Given the description of an element on the screen output the (x, y) to click on. 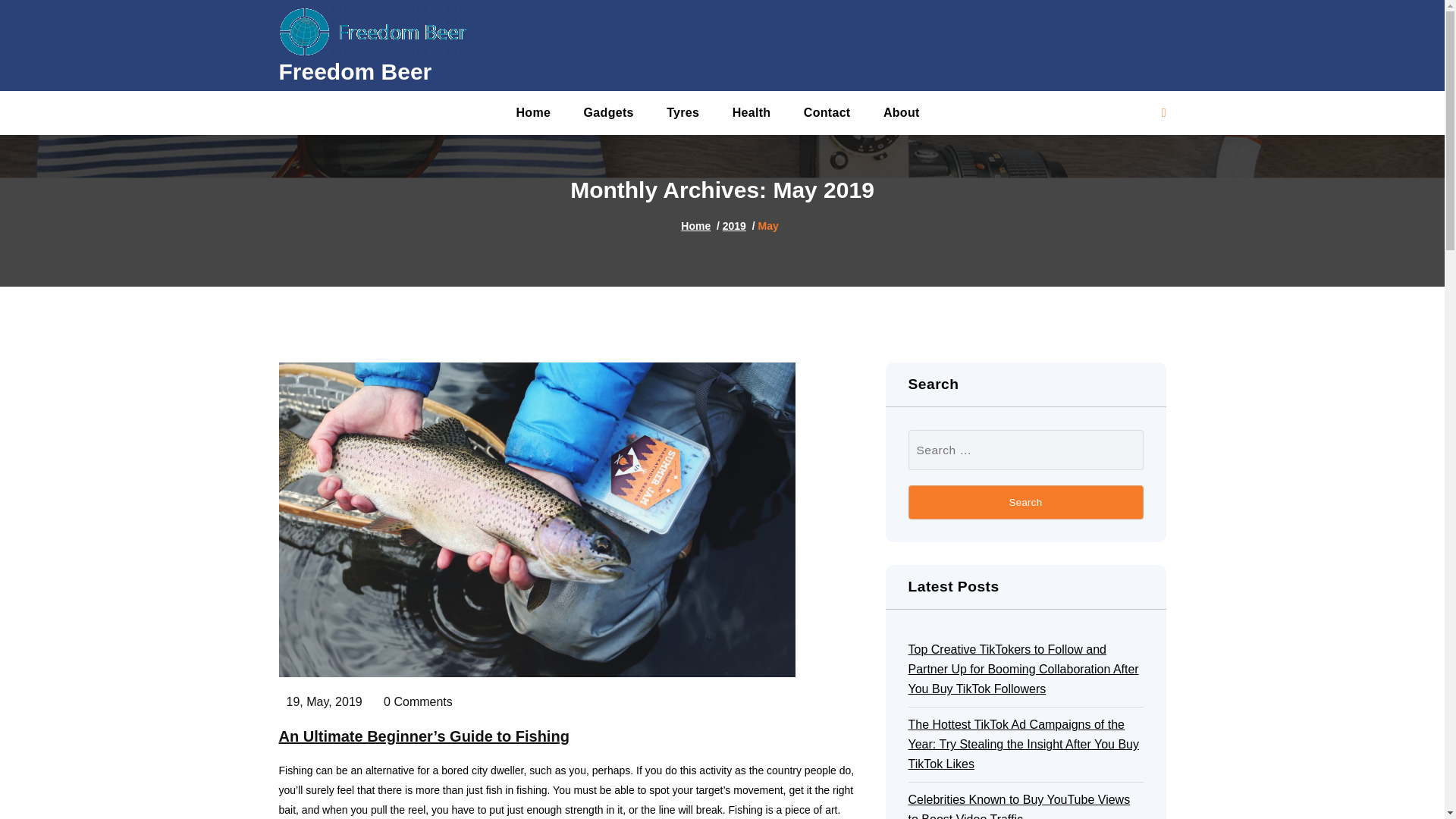
Search (1025, 502)
Freedom Beer (355, 71)
Tyres (682, 112)
About (900, 112)
2019 (733, 225)
Contact (827, 112)
Search (1025, 502)
Contact (827, 112)
About (900, 112)
Tyres (682, 112)
Search (1025, 502)
Gadgets (609, 112)
